Given the description of an element on the screen output the (x, y) to click on. 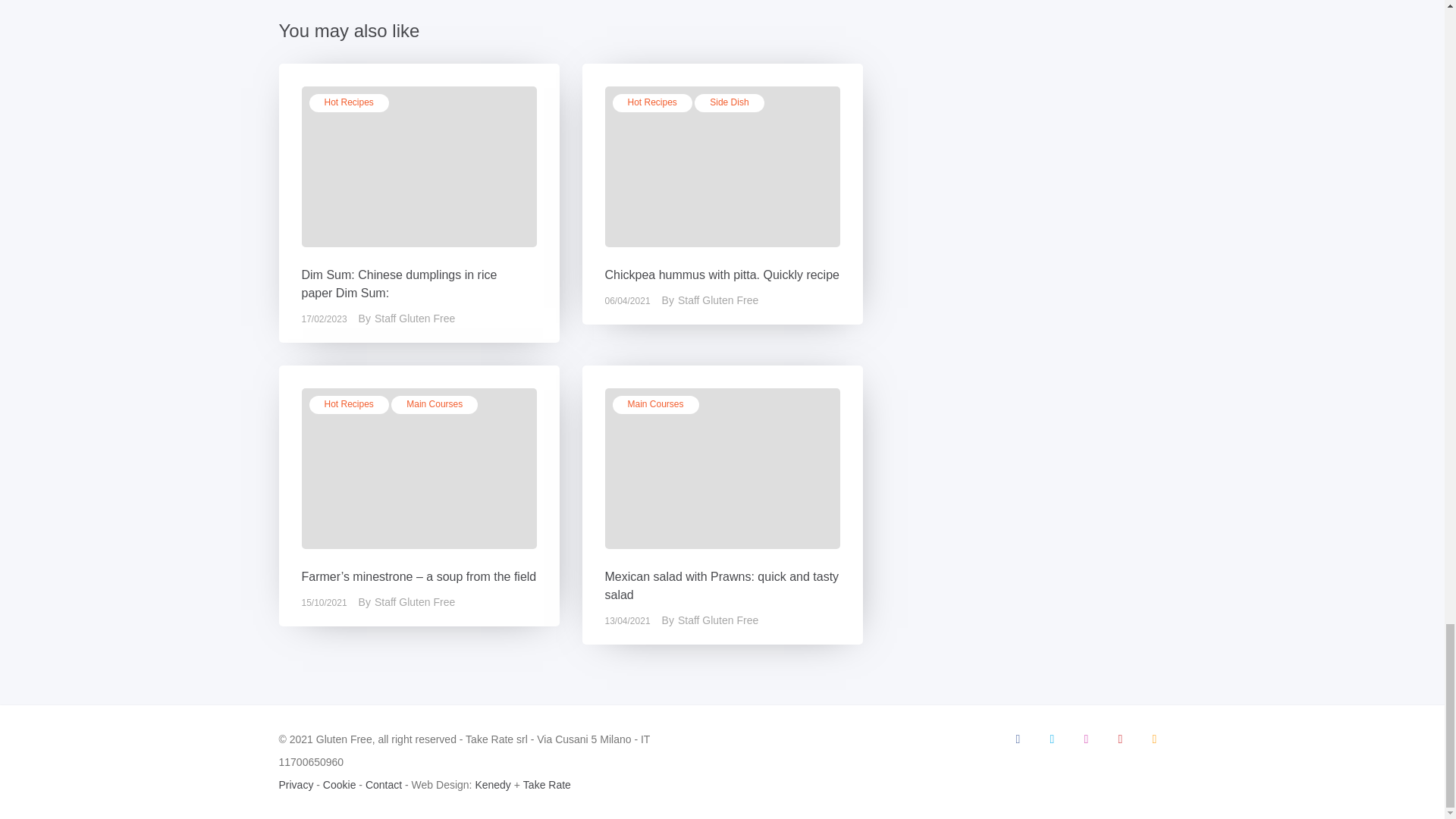
Staff Gluten Free (425, 318)
Hot Recipes (348, 103)
Hot Recipes (652, 103)
Dim Sum: Chinese dumplings in rice paper Dim Sum: (399, 283)
Side Dish (728, 103)
Chickpea hummus with pitta. Quickly recipe (722, 274)
